Given the description of an element on the screen output the (x, y) to click on. 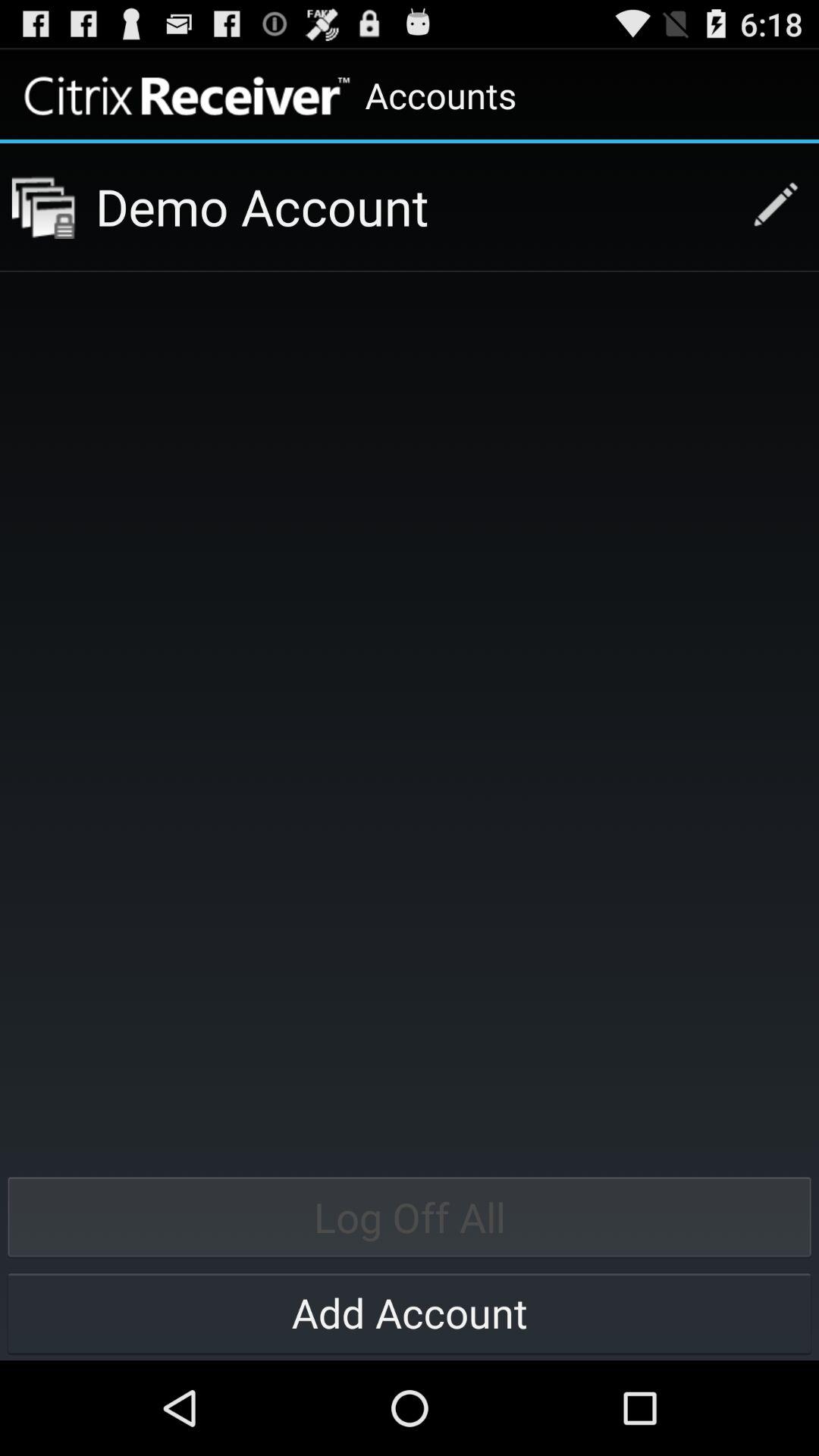
select the icon to the right of the demo account icon (768, 206)
